Given the description of an element on the screen output the (x, y) to click on. 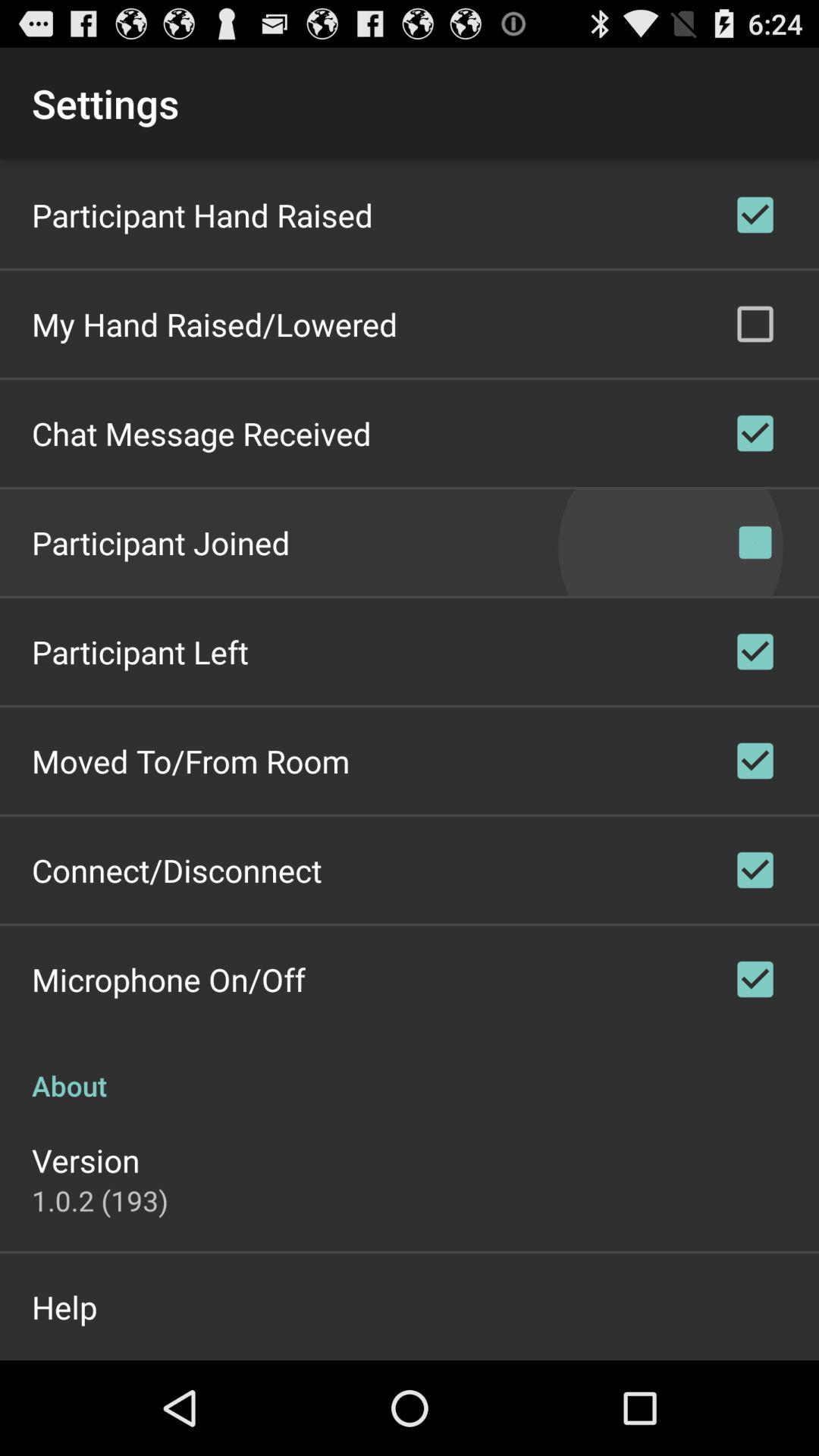
select the item above help app (99, 1200)
